Given the description of an element on the screen output the (x, y) to click on. 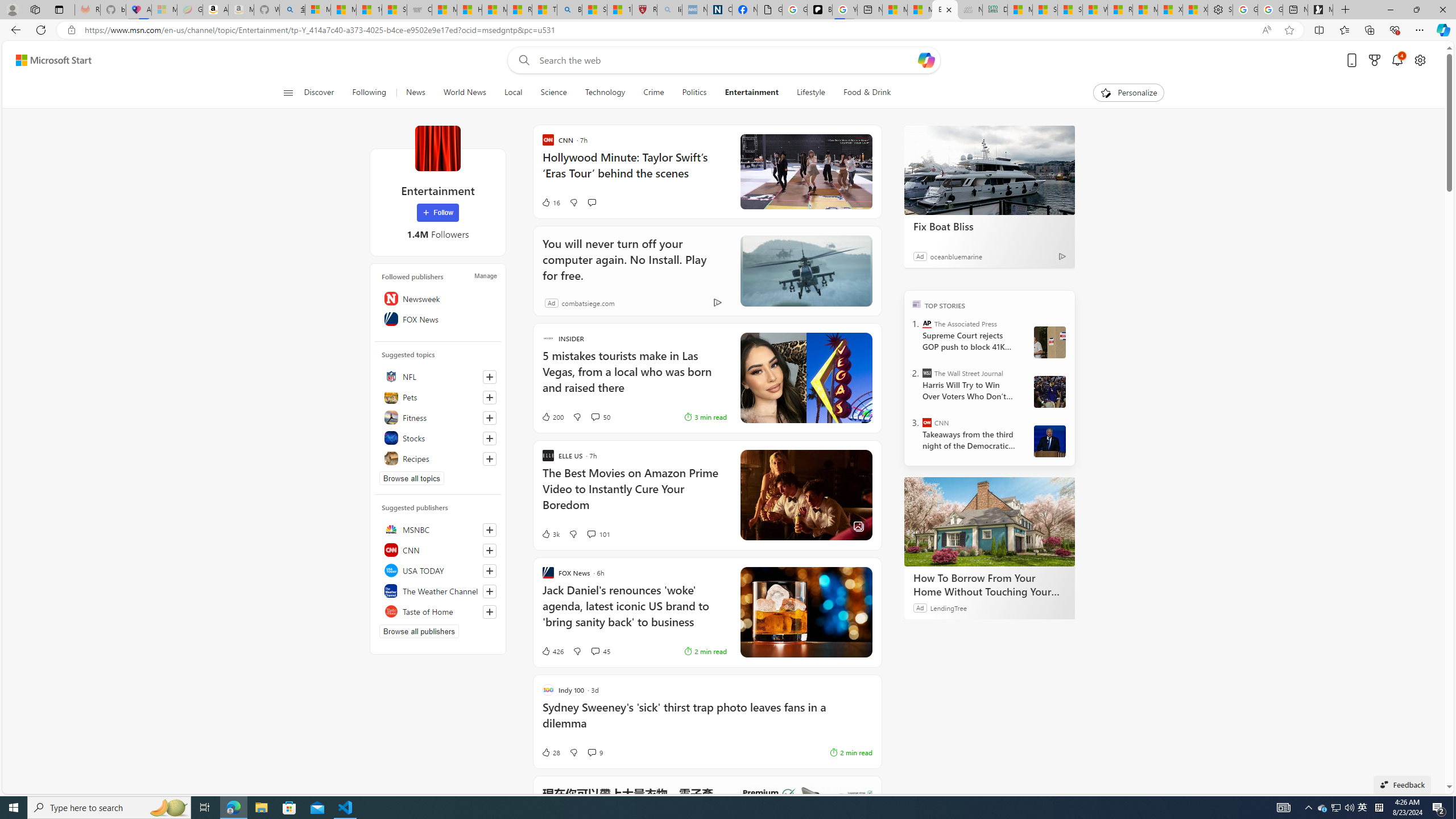
View comments 101 Comment (598, 533)
View comments 45 Comment (594, 651)
Asthma Inhalers: Names and Types (137, 9)
Browse all publishers (419, 631)
Follow this source (489, 611)
MSNBC (437, 529)
Fitness (437, 417)
Manage (485, 275)
glass of whiskey (805, 611)
View comments 9 Comment (594, 752)
